Given the description of an element on the screen output the (x, y) to click on. 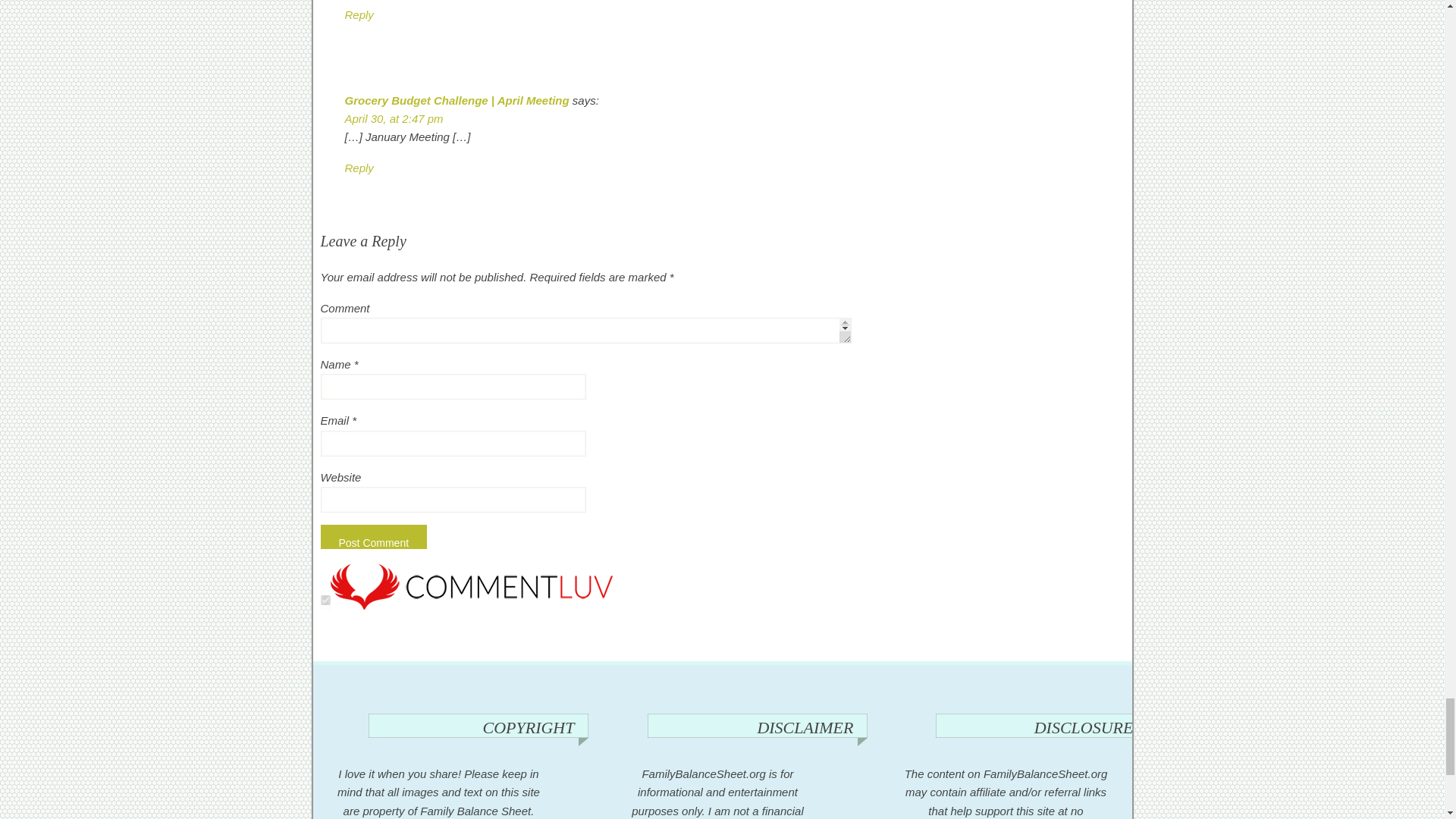
Post Comment (373, 536)
CommentLuv is enabled (471, 604)
